Given the description of an element on the screen output the (x, y) to click on. 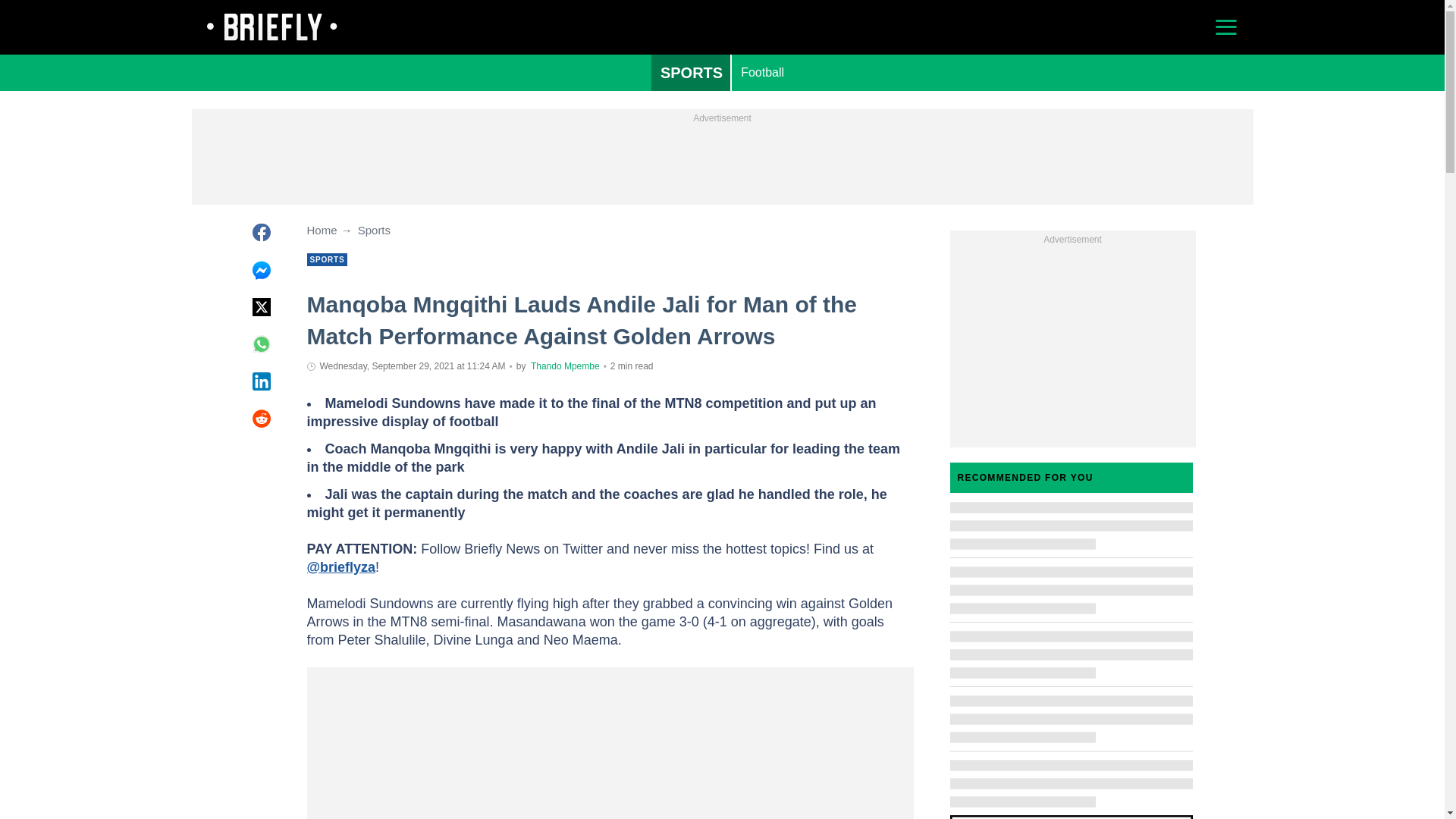
Football (762, 72)
SPORTS (691, 72)
Author page (565, 366)
